Given the description of an element on the screen output the (x, y) to click on. 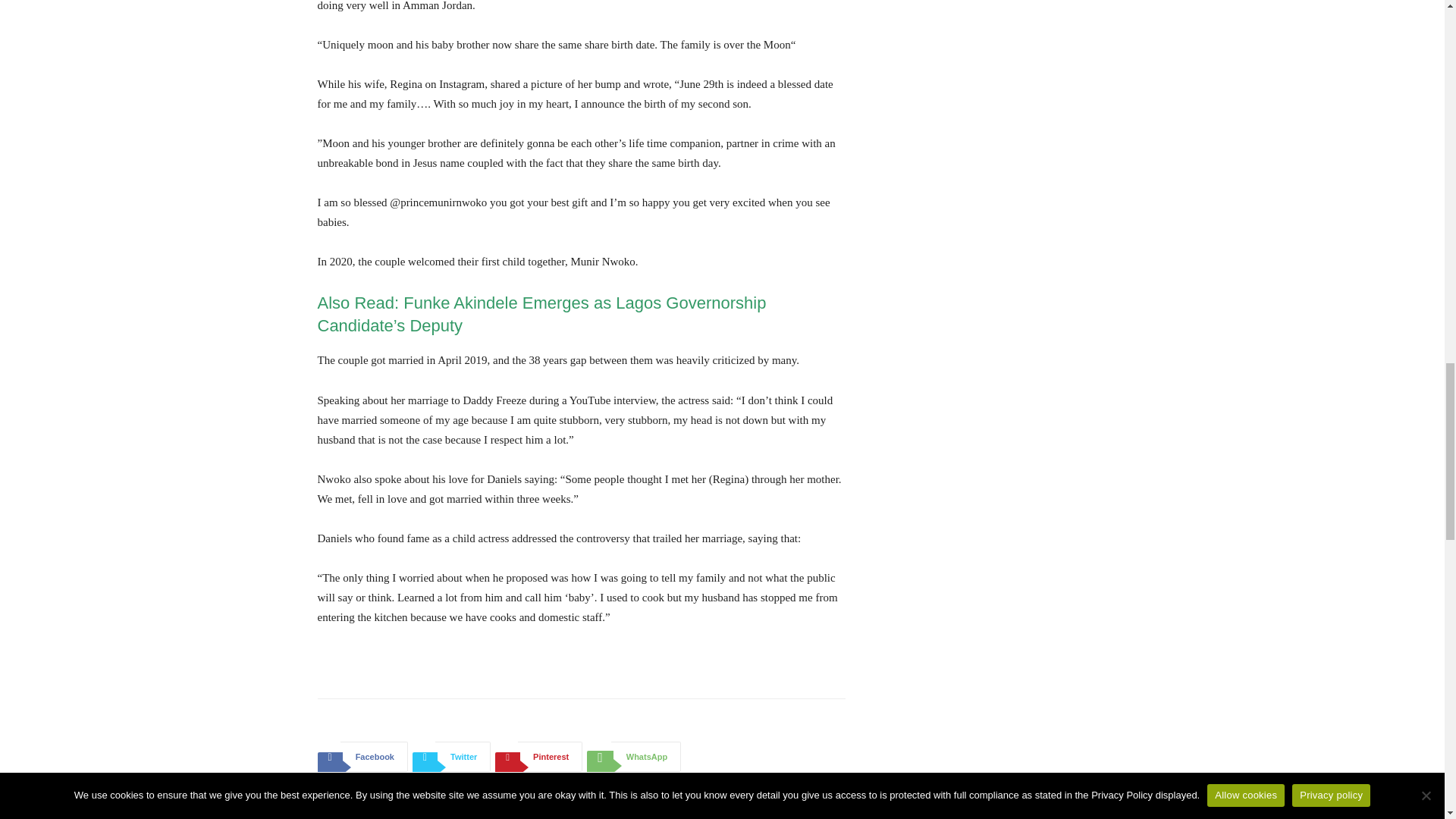
bottomFacebookLike (430, 722)
Twitter (451, 757)
Facebook (362, 757)
Pinterest (538, 757)
Pinterest (538, 757)
Twitter (451, 757)
WhatsApp (633, 757)
Facebook (362, 757)
WhatsApp (633, 757)
